Given the description of an element on the screen output the (x, y) to click on. 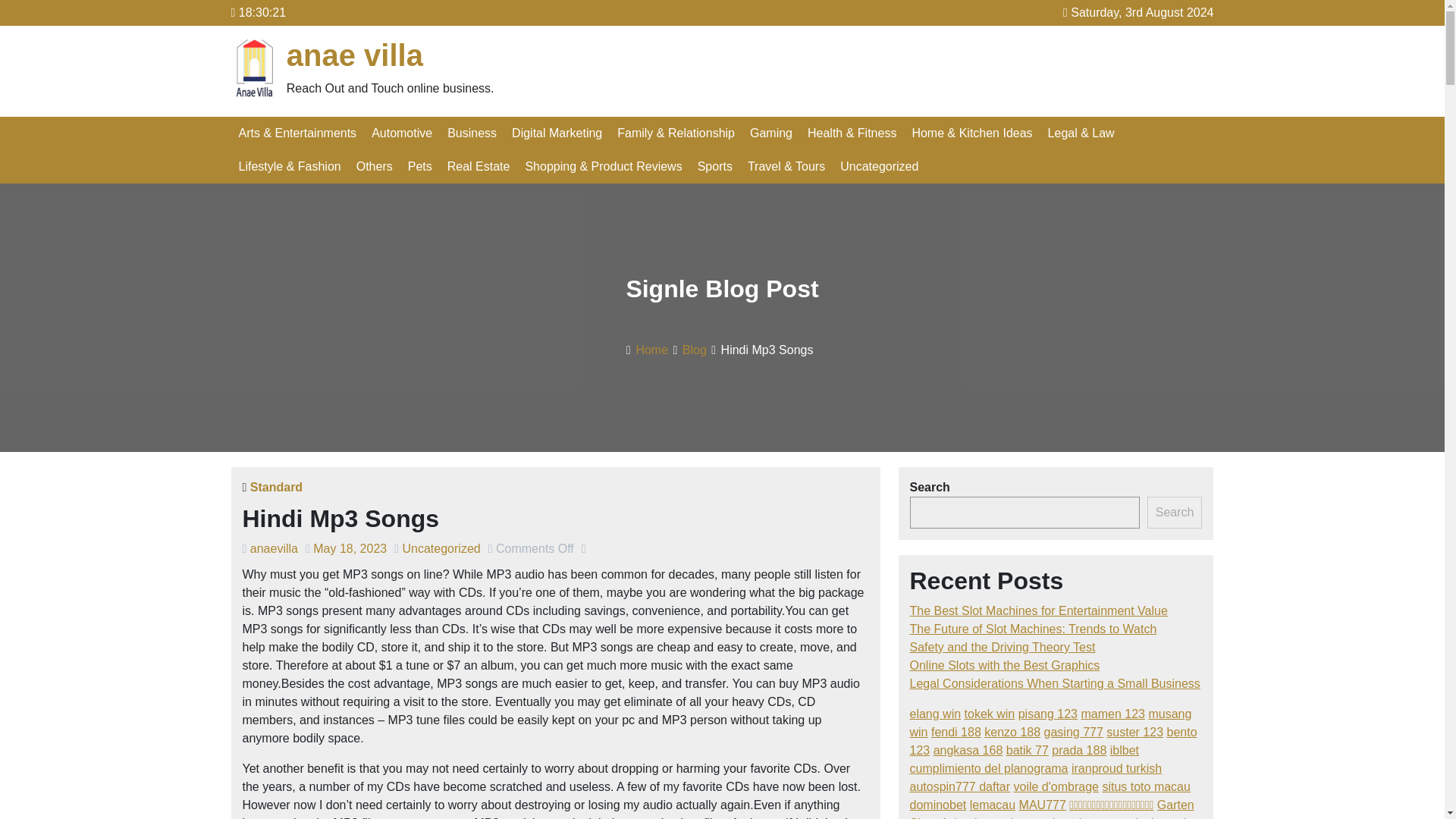
kenzo 188 (1012, 731)
fendi 188 (956, 731)
Uncategorized (440, 548)
Automotive (401, 133)
Digital Marketing (556, 133)
Pets (419, 166)
mamen 123 (1112, 713)
elang win (935, 713)
tokek win (988, 713)
Uncategorized (879, 166)
